Given the description of an element on the screen output the (x, y) to click on. 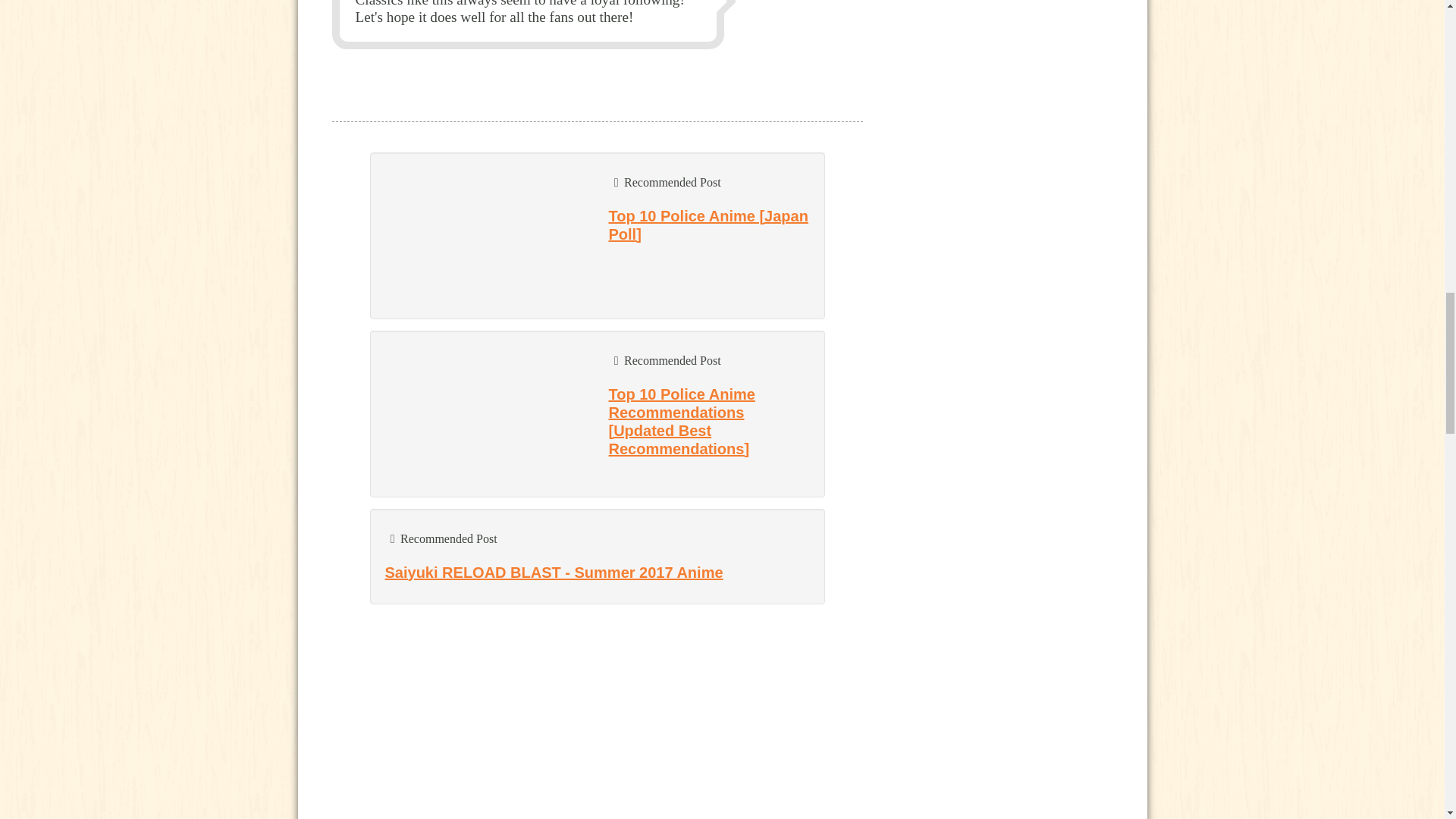
Saiyuki RELOAD BLAST - Summer 2017 Anime (554, 572)
